Given the description of an element on the screen output the (x, y) to click on. 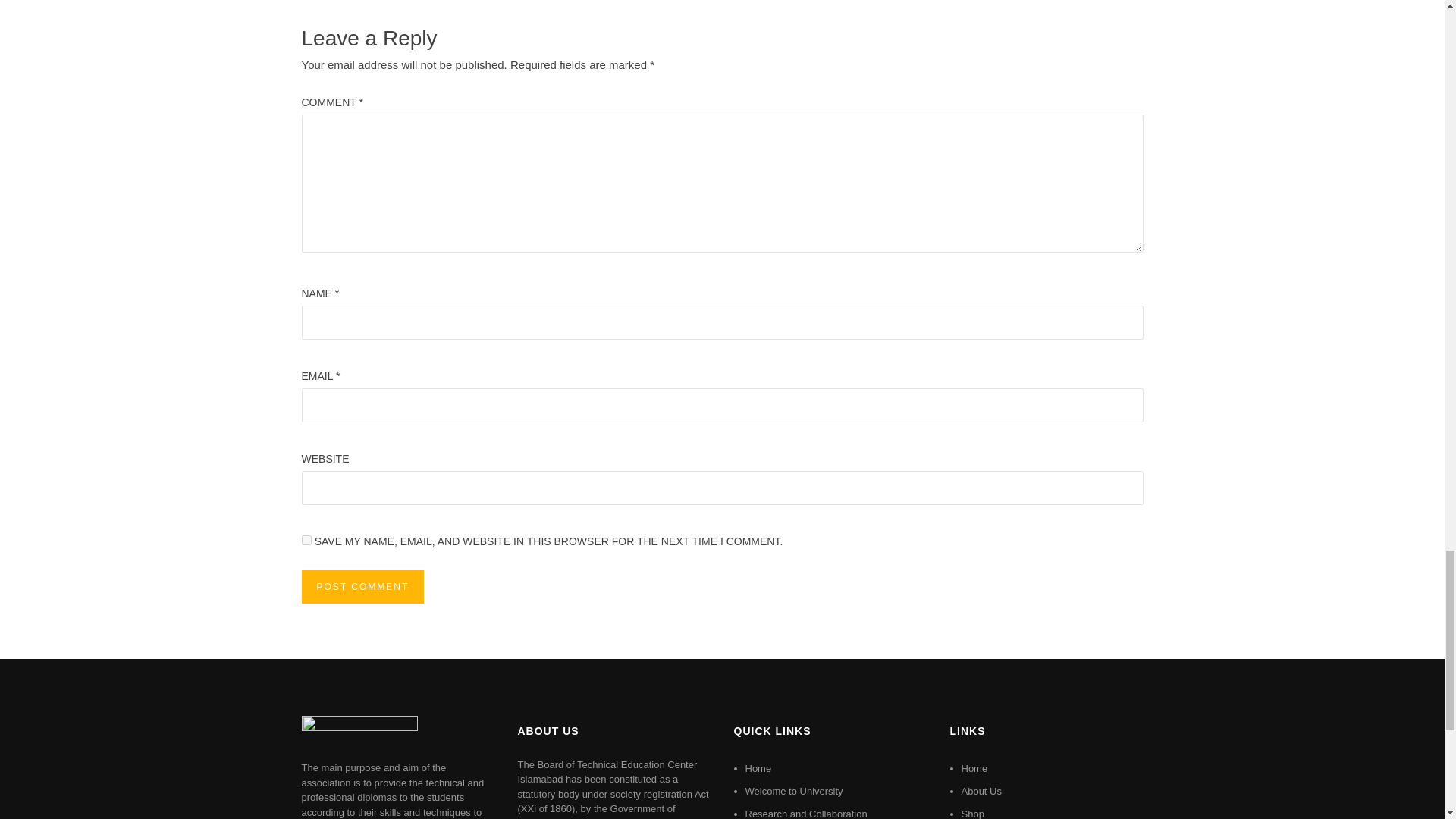
yes (306, 540)
Shop (972, 813)
Research and Collaboration (805, 813)
Post Comment (363, 586)
Welcome to University (793, 790)
Home (974, 767)
Post Comment (363, 586)
Home (757, 767)
About Us (980, 790)
